Given the description of an element on the screen output the (x, y) to click on. 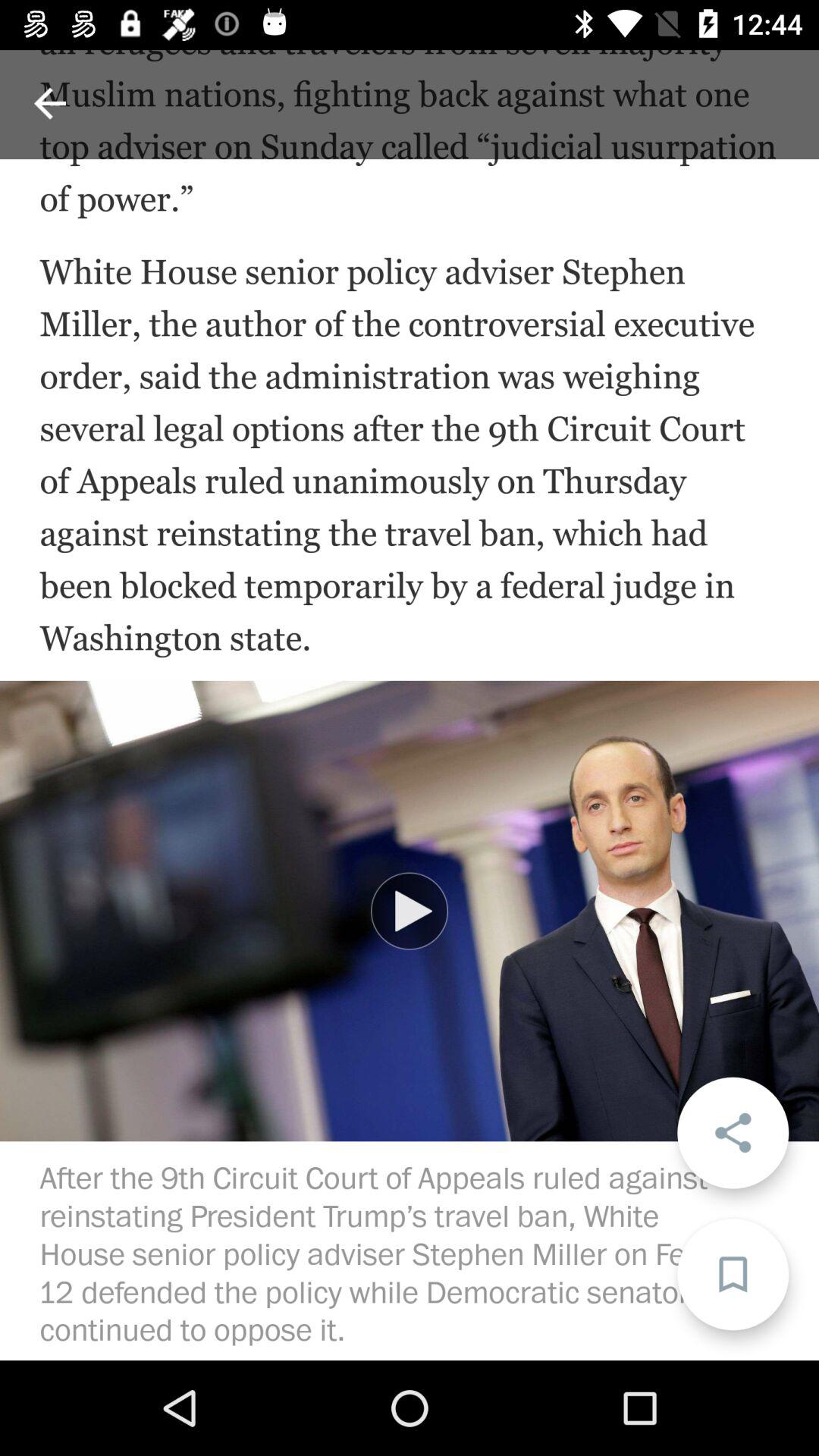
play video option (409, 910)
